Given the description of an element on the screen output the (x, y) to click on. 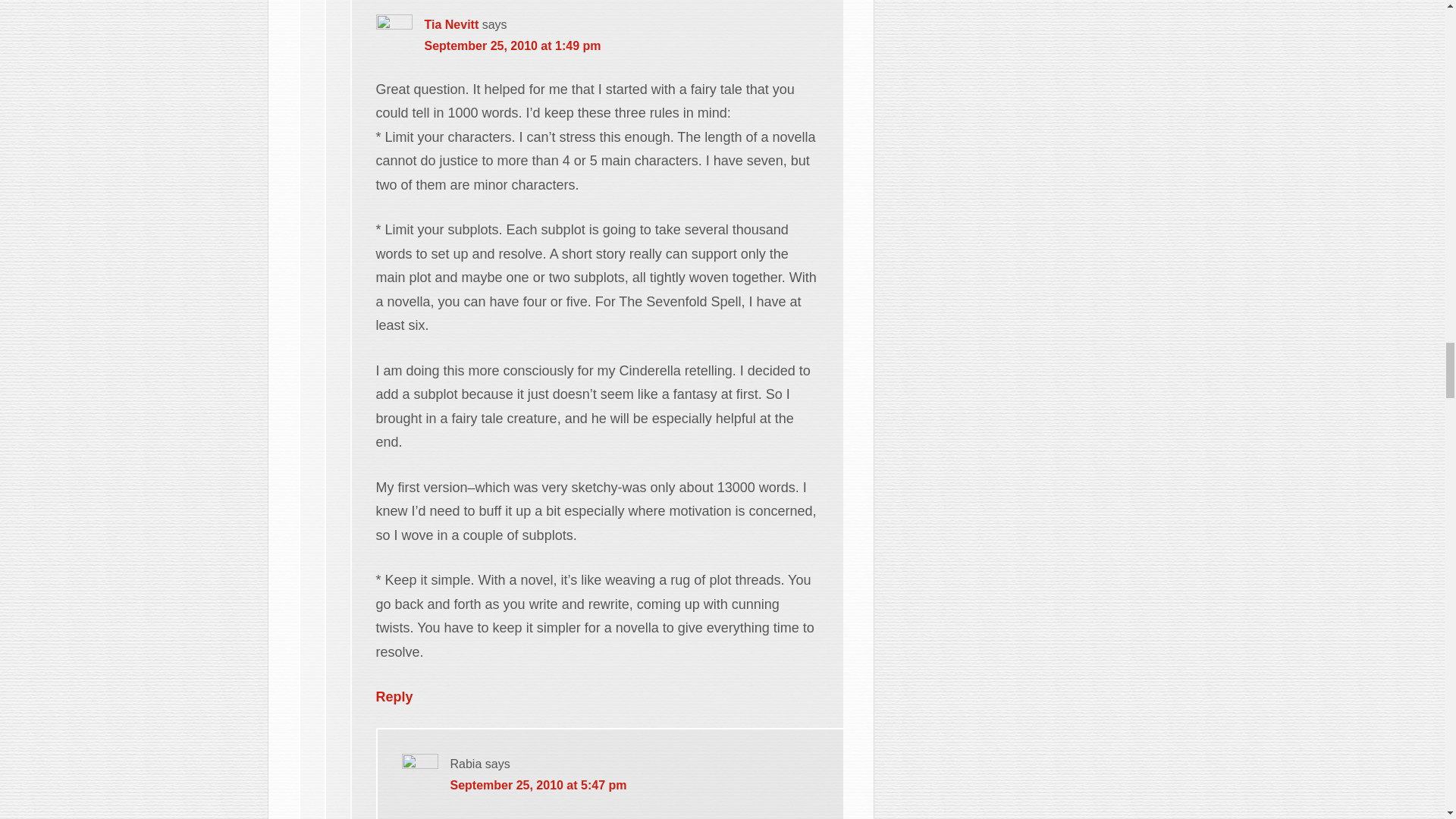
Reply (394, 696)
September 25, 2010 at 5:47 pm (538, 784)
Tia Nevitt (452, 24)
September 25, 2010 at 1:49 pm (513, 45)
